Given the description of an element on the screen output the (x, y) to click on. 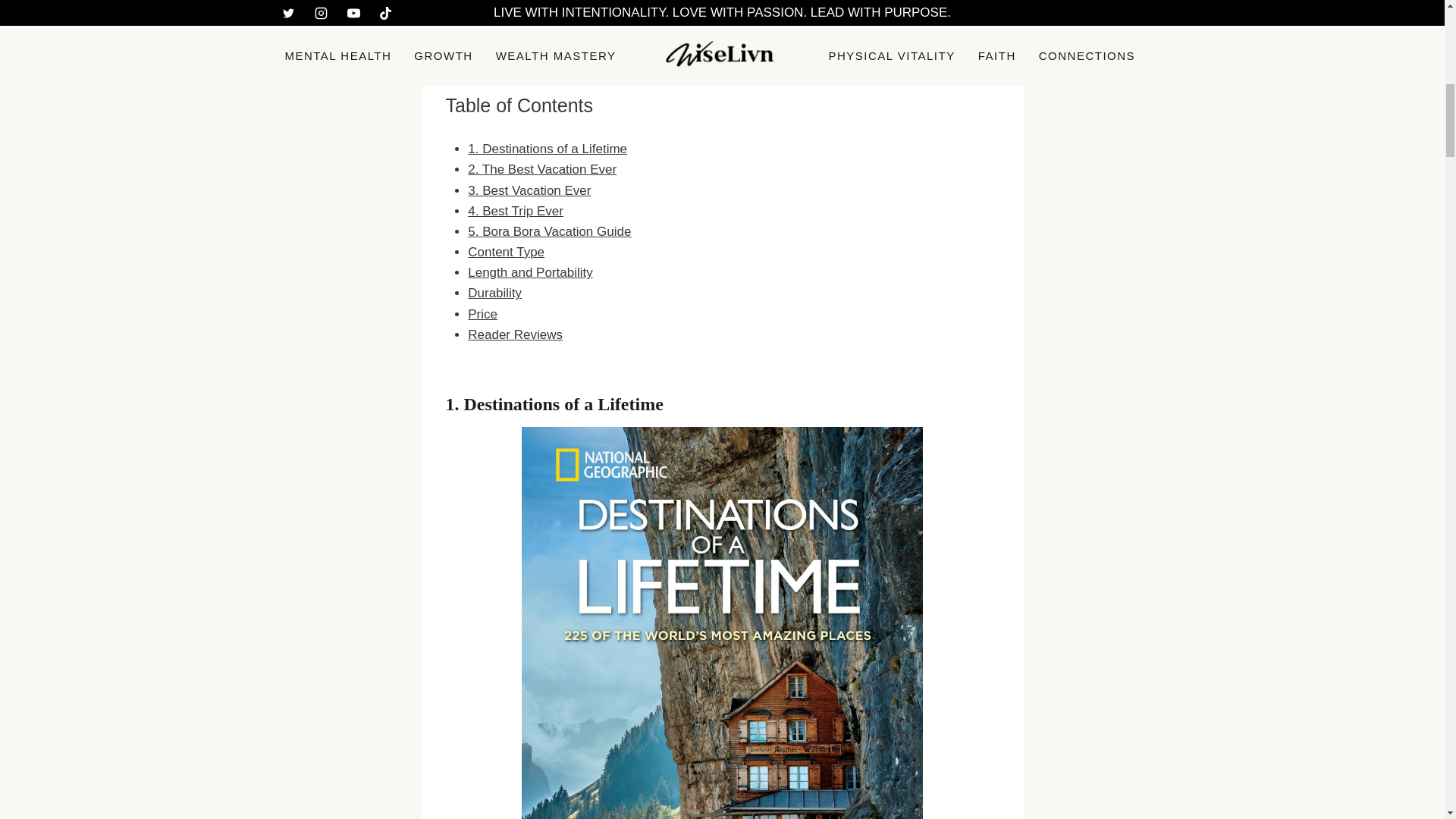
4. Best Trip Ever (515, 210)
Reader Reviews (514, 334)
Length and Portability (529, 272)
3. Best Vacation Ever (529, 190)
2. The Best Vacation Ever (541, 169)
1. Destinations of a Lifetime (547, 148)
Content Type (505, 251)
5. Bora Bora Vacation Guide (548, 231)
Durability (494, 292)
Price (482, 314)
Destinations of a Lifetime (563, 403)
